Given the description of an element on the screen output the (x, y) to click on. 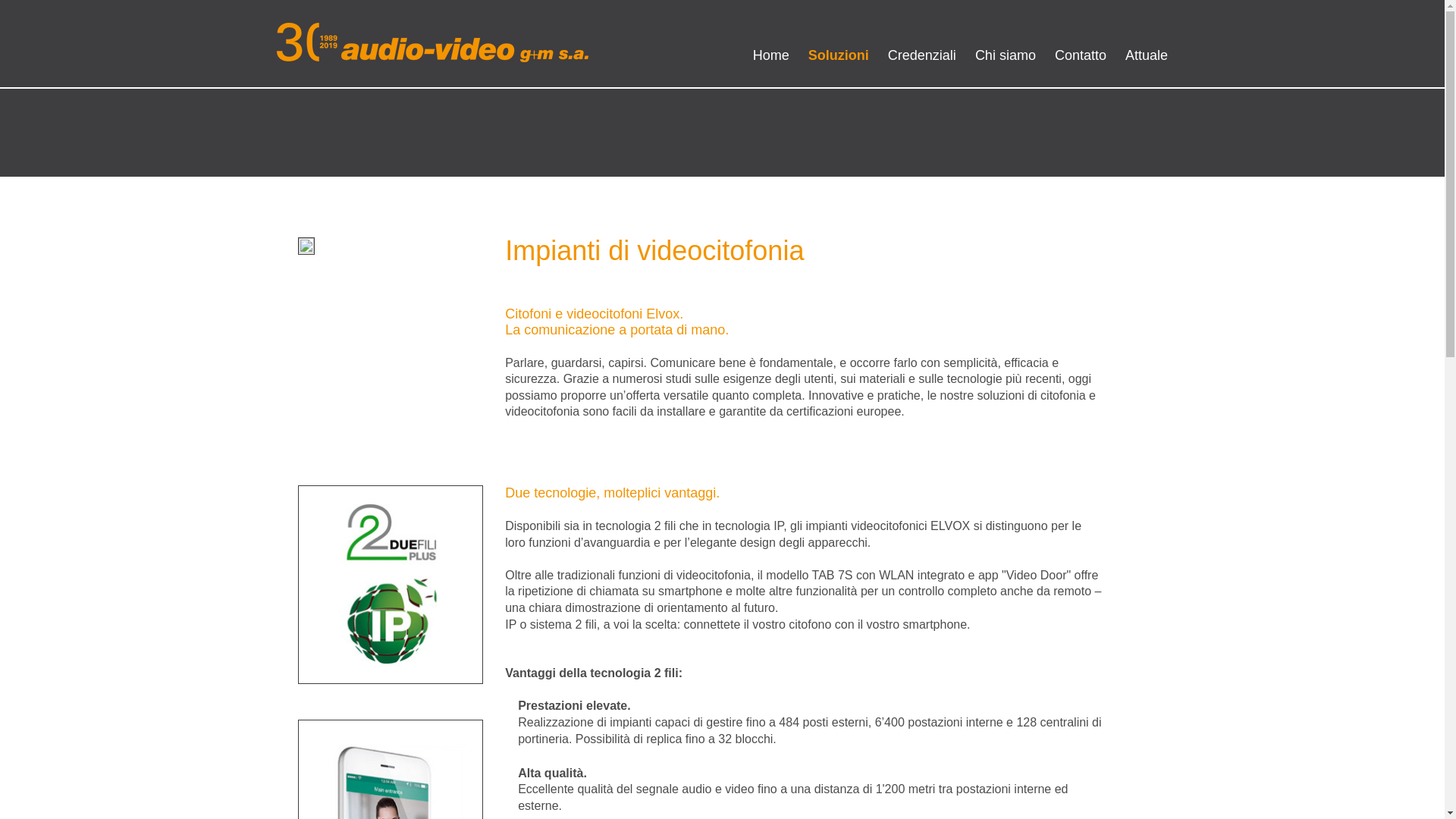
Home Element type: text (771, 55)
Soluzioni Element type: text (838, 55)
Attuale Element type: text (1146, 55)
Contatto Element type: text (1080, 55)
Credenziali Element type: text (922, 55)
Chi siamo Element type: text (1005, 55)
